Given the description of an element on the screen output the (x, y) to click on. 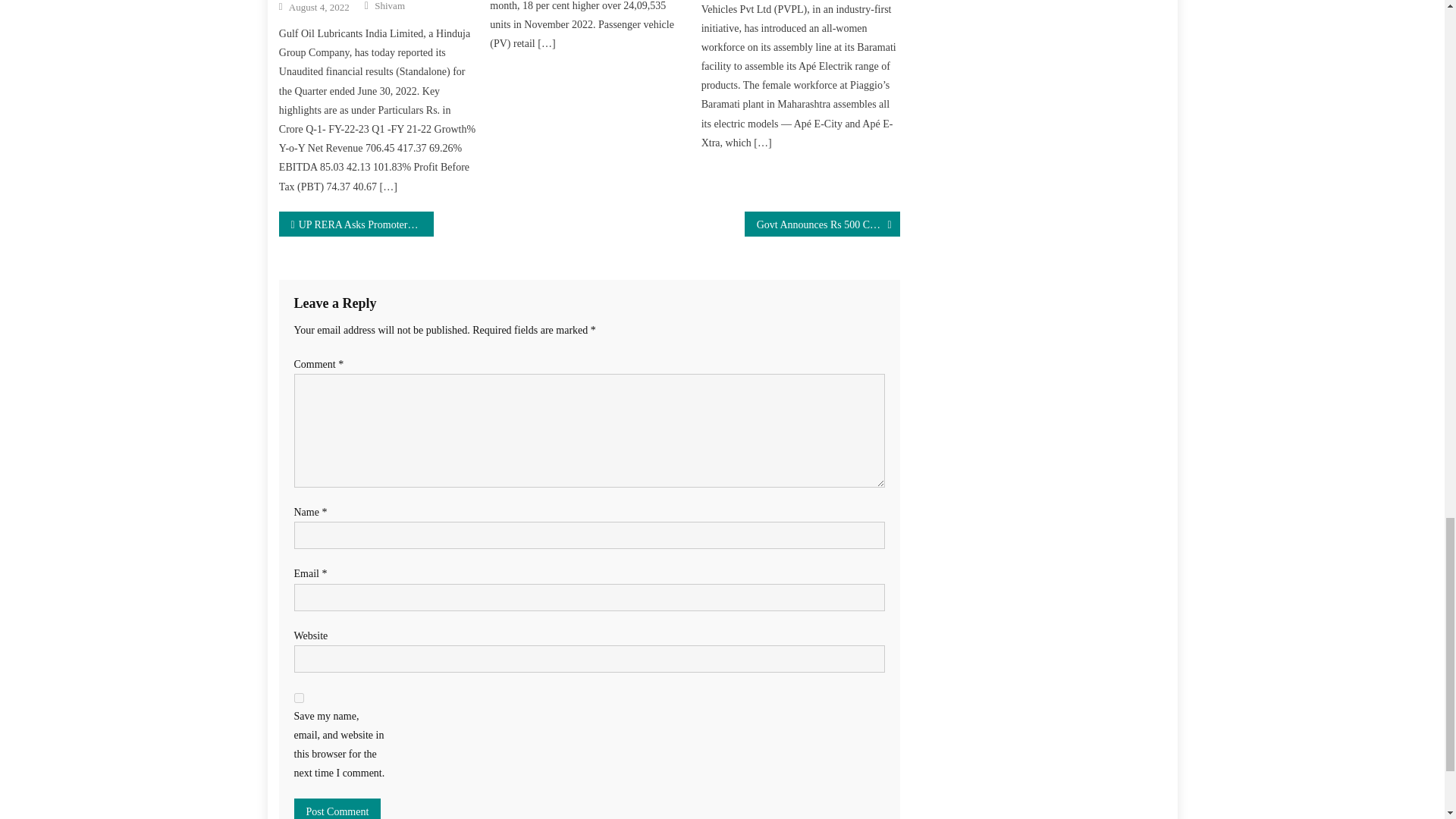
Govt Announces Rs 500 Cr Scheme To Promote E-Mobility (821, 223)
August 4, 2022 (318, 7)
Shivam (389, 6)
Post Comment (337, 808)
yes (299, 697)
